Given the description of an element on the screen output the (x, y) to click on. 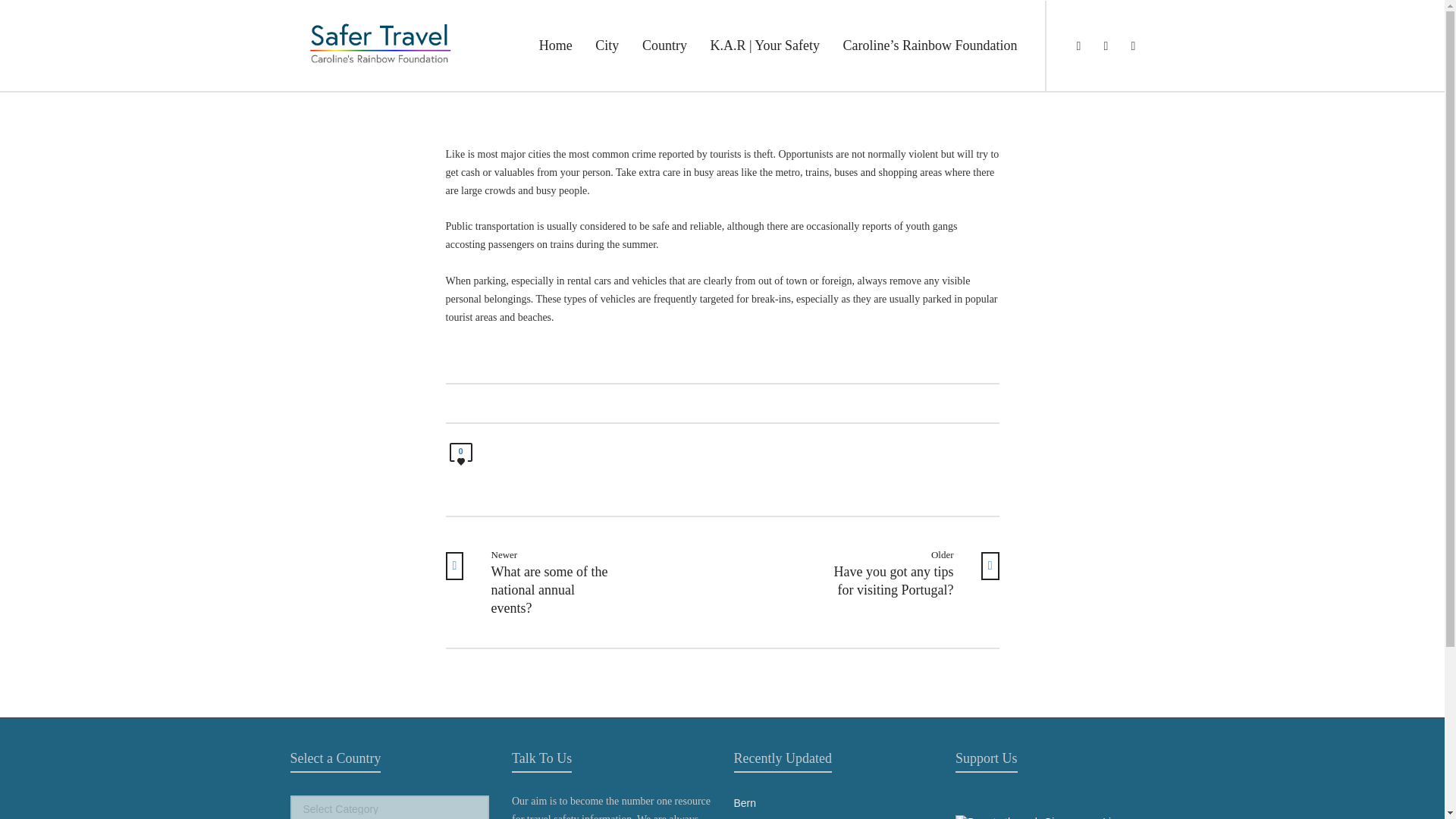
Home (555, 45)
Country (664, 45)
Bern (833, 803)
City (606, 45)
0 (459, 456)
